Given the description of an element on the screen output the (x, y) to click on. 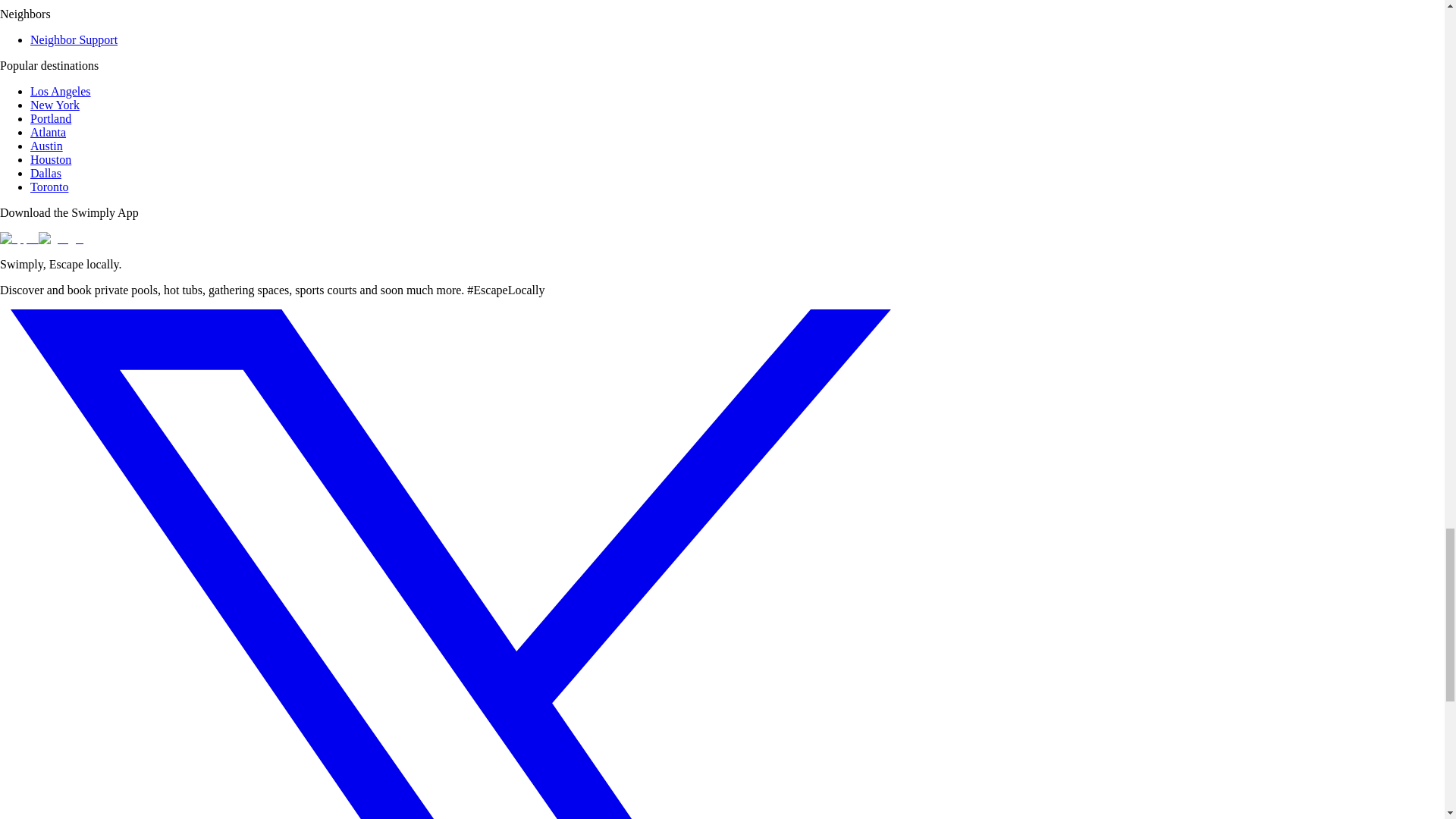
Portland (50, 118)
Neighbor Support (73, 39)
New York (55, 104)
Los Angeles (60, 91)
